Given the description of an element on the screen output the (x, y) to click on. 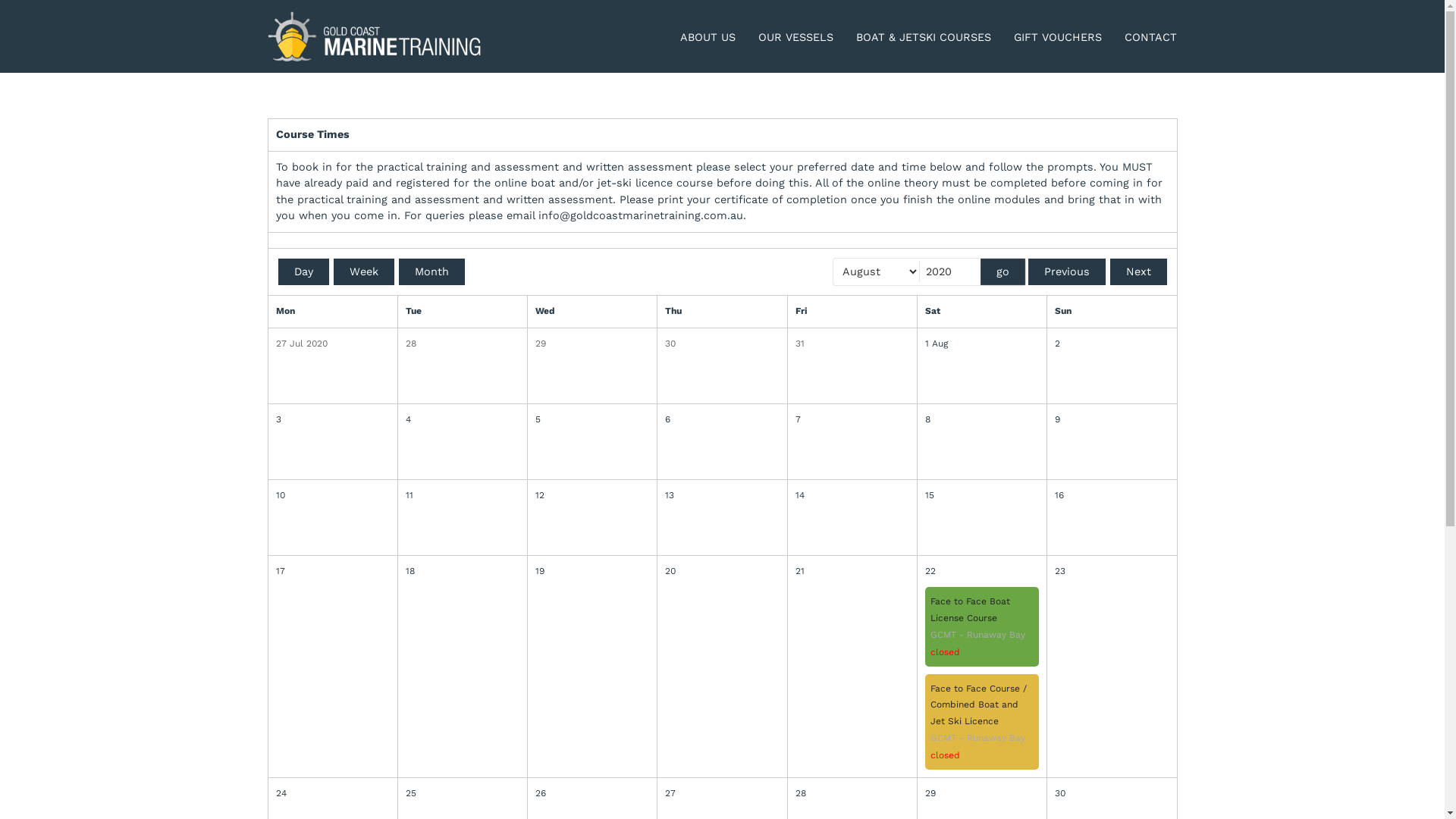
3 Element type: text (332, 419)
Day Element type: text (302, 271)
go Element type: text (1001, 271)
1 Aug Element type: text (981, 343)
23 Element type: text (1111, 571)
10 Element type: text (332, 495)
6 Element type: text (721, 419)
18 Element type: text (462, 571)
22 Element type: text (981, 571)
9 Element type: text (1111, 419)
24 Element type: text (332, 793)
13 Element type: text (721, 495)
14 Element type: text (852, 495)
GIFT VOUCHERS Element type: text (1057, 37)
ABOUT US Element type: text (707, 37)
CONTACT Element type: text (1150, 37)
4 Element type: text (462, 419)
28 Element type: text (852, 793)
8 Element type: text (981, 419)
15 Element type: text (981, 495)
Next Element type: text (1138, 271)
17 Element type: text (332, 571)
30 Element type: text (721, 343)
19 Element type: text (592, 571)
12 Element type: text (592, 495)
26 Element type: text (592, 793)
2 Element type: text (1111, 343)
Gold Coast Marine Training Element type: hover (374, 36)
21 Element type: text (852, 571)
BOAT & JETSKI COURSES Element type: text (923, 37)
11 Element type: text (462, 495)
OUR VESSELS Element type: text (795, 37)
27 Jul 2020 Element type: text (332, 343)
16 Element type: text (1111, 495)
Month Element type: text (431, 271)
20 Element type: text (721, 571)
29 Element type: text (981, 793)
28 Element type: text (462, 343)
7 Element type: text (852, 419)
29 Element type: text (592, 343)
Week Element type: text (363, 271)
27 Element type: text (721, 793)
25 Element type: text (462, 793)
5 Element type: text (592, 419)
30 Element type: text (1111, 793)
31 Element type: text (852, 343)
Previous Element type: text (1066, 271)
